Given the description of an element on the screen output the (x, y) to click on. 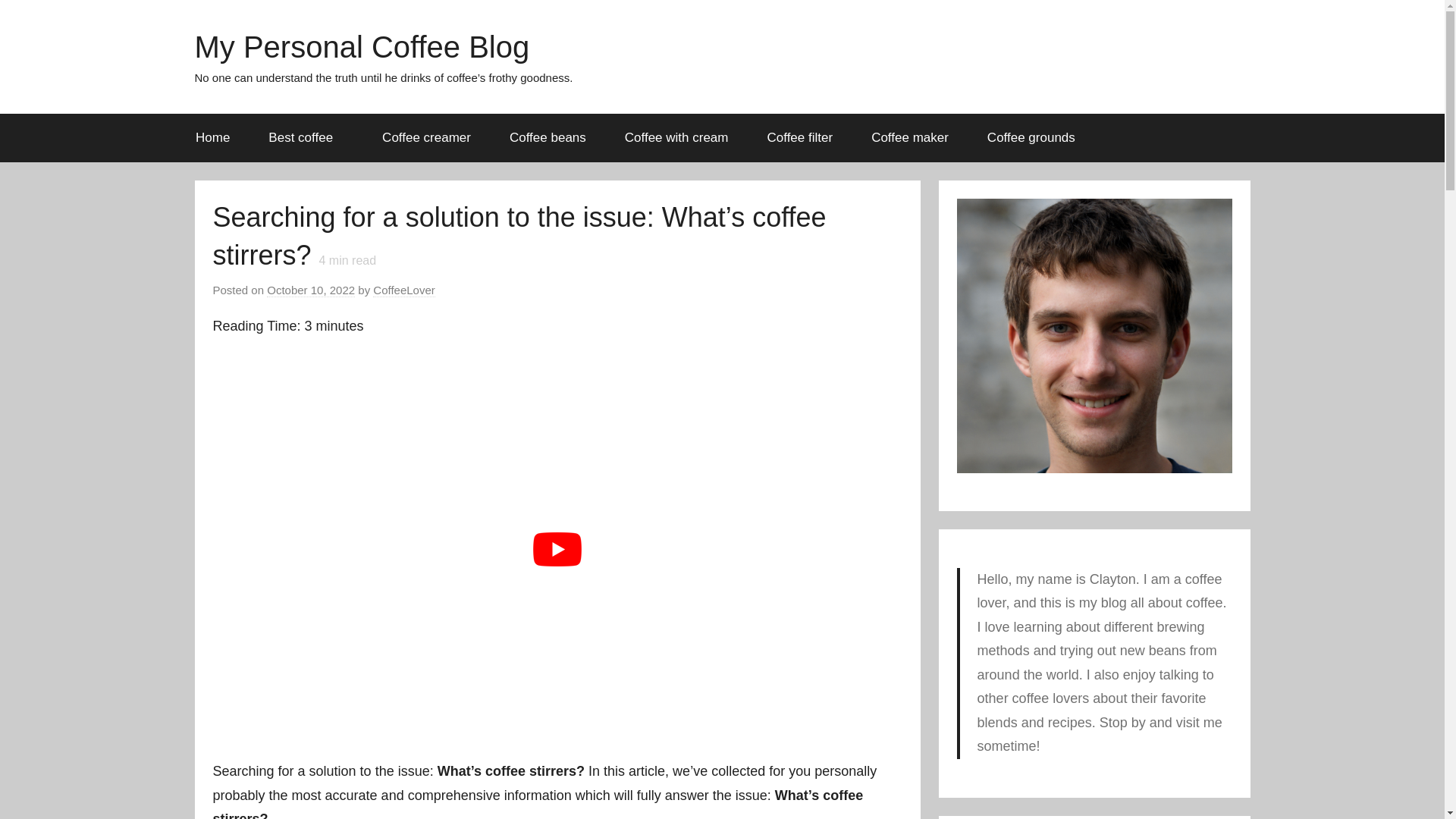
Home (212, 137)
My Personal Coffee Blog (361, 46)
Best coffee (305, 137)
October 10, 2022 (310, 290)
Coffee creamer (426, 137)
Coffee with cream (676, 137)
View all posts by CoffeeLover (402, 290)
Coffee maker (909, 137)
Coffee filter (799, 137)
Coffee beans (547, 137)
CoffeeLover (402, 290)
Coffee grounds (1031, 137)
